Given the description of an element on the screen output the (x, y) to click on. 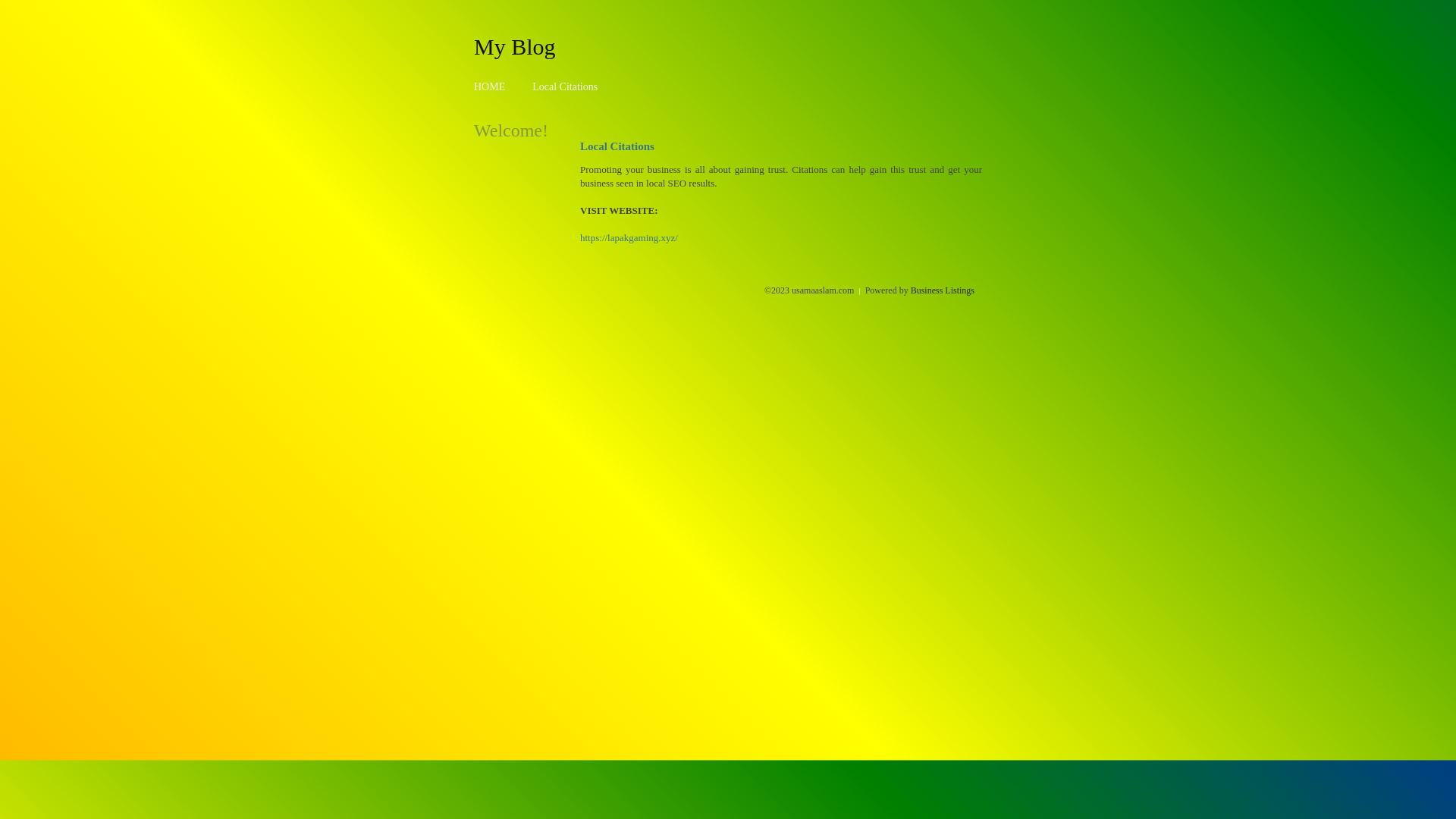
https://lapakgaming.xyz/ Element type: text (628, 237)
Business Listings Element type: text (942, 290)
Local Citations Element type: text (564, 86)
HOME Element type: text (489, 86)
My Blog Element type: text (514, 46)
